Given the description of an element on the screen output the (x, y) to click on. 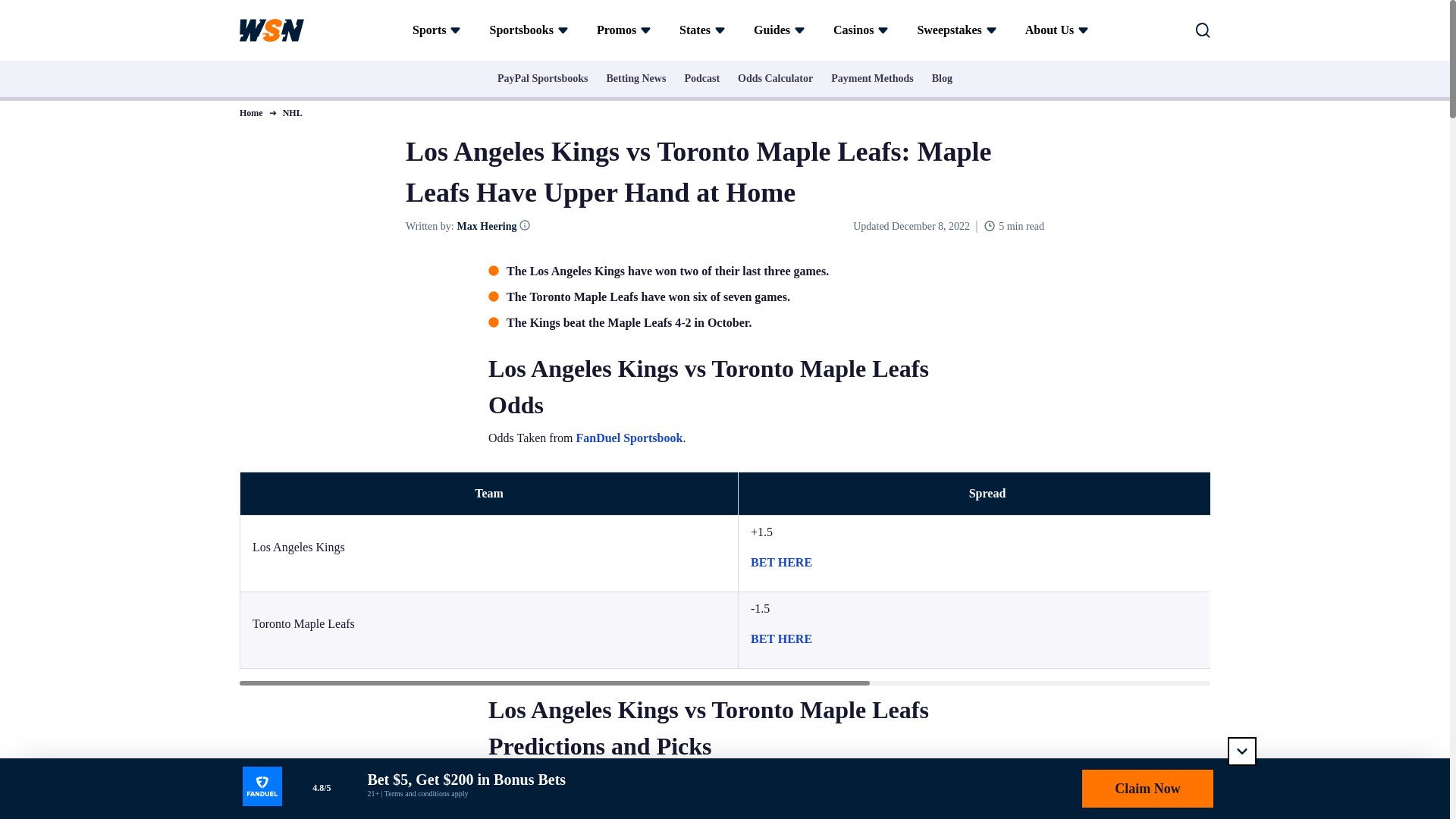
World Sports Network (272, 29)
